Given the description of an element on the screen output the (x, y) to click on. 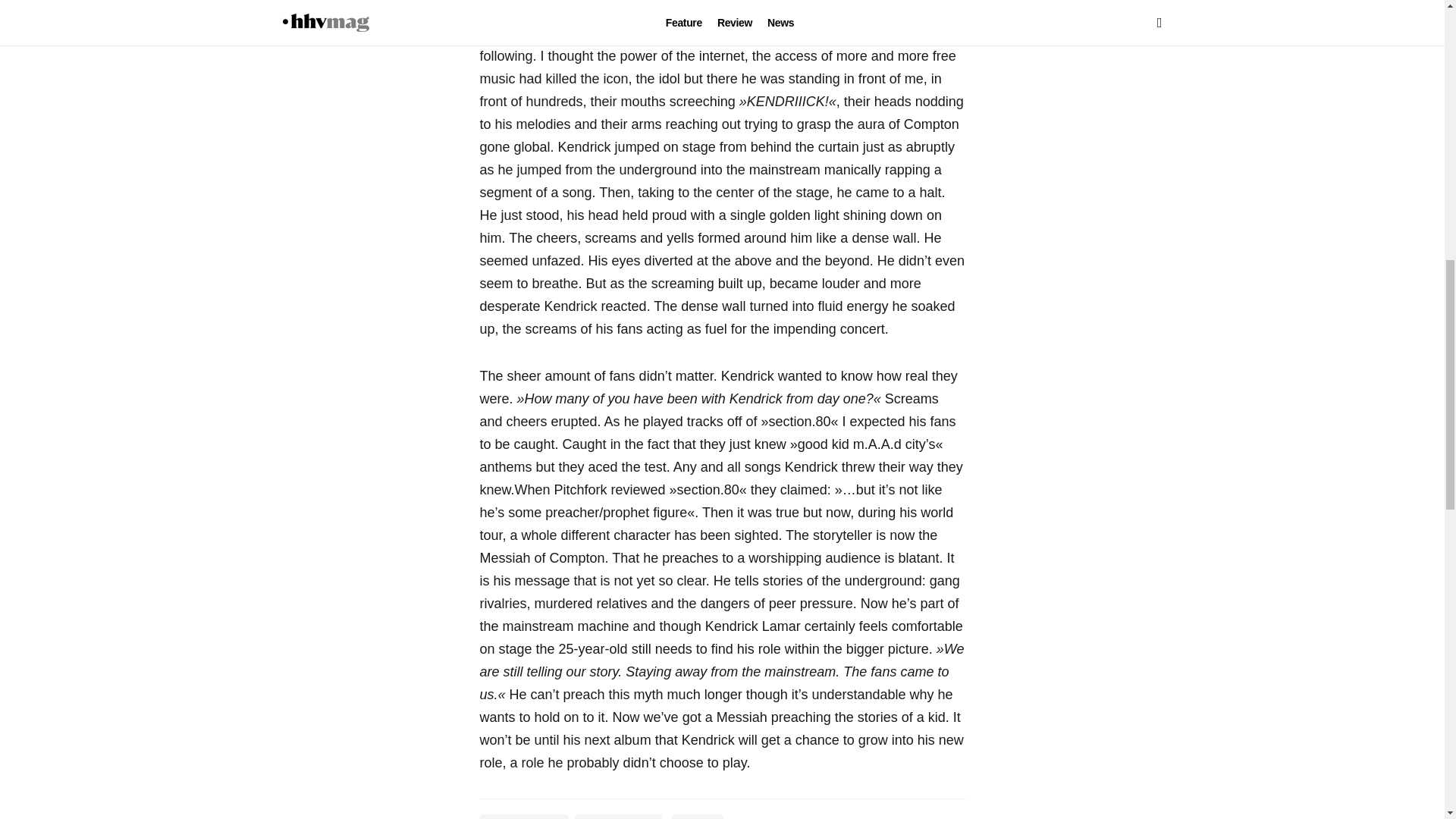
Kendrick Lamar (524, 816)
Hip Hop (697, 816)
The Live Report (618, 816)
